Given the description of an element on the screen output the (x, y) to click on. 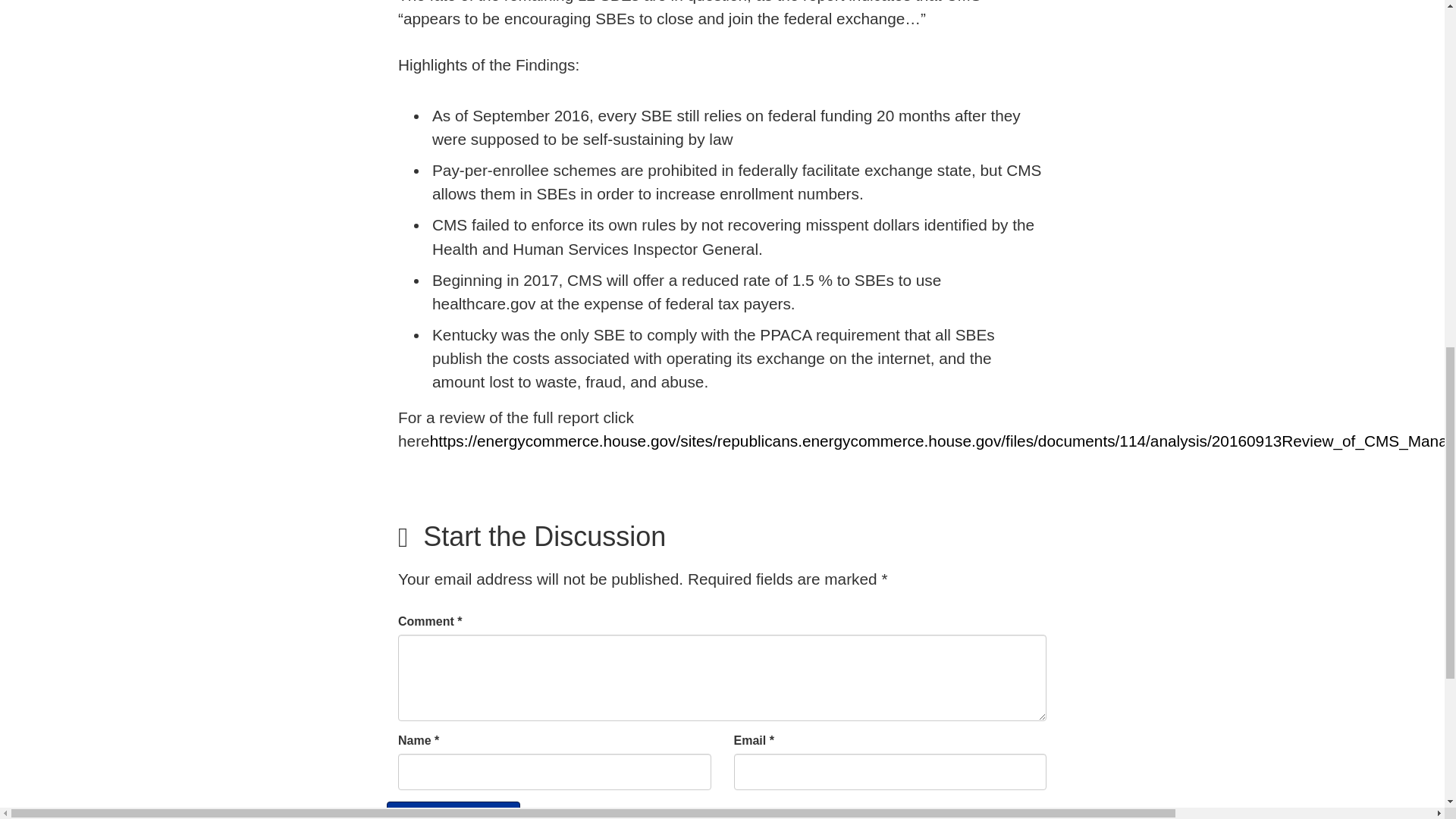
Post Comment (453, 810)
Post Comment (453, 810)
